Given the description of an element on the screen output the (x, y) to click on. 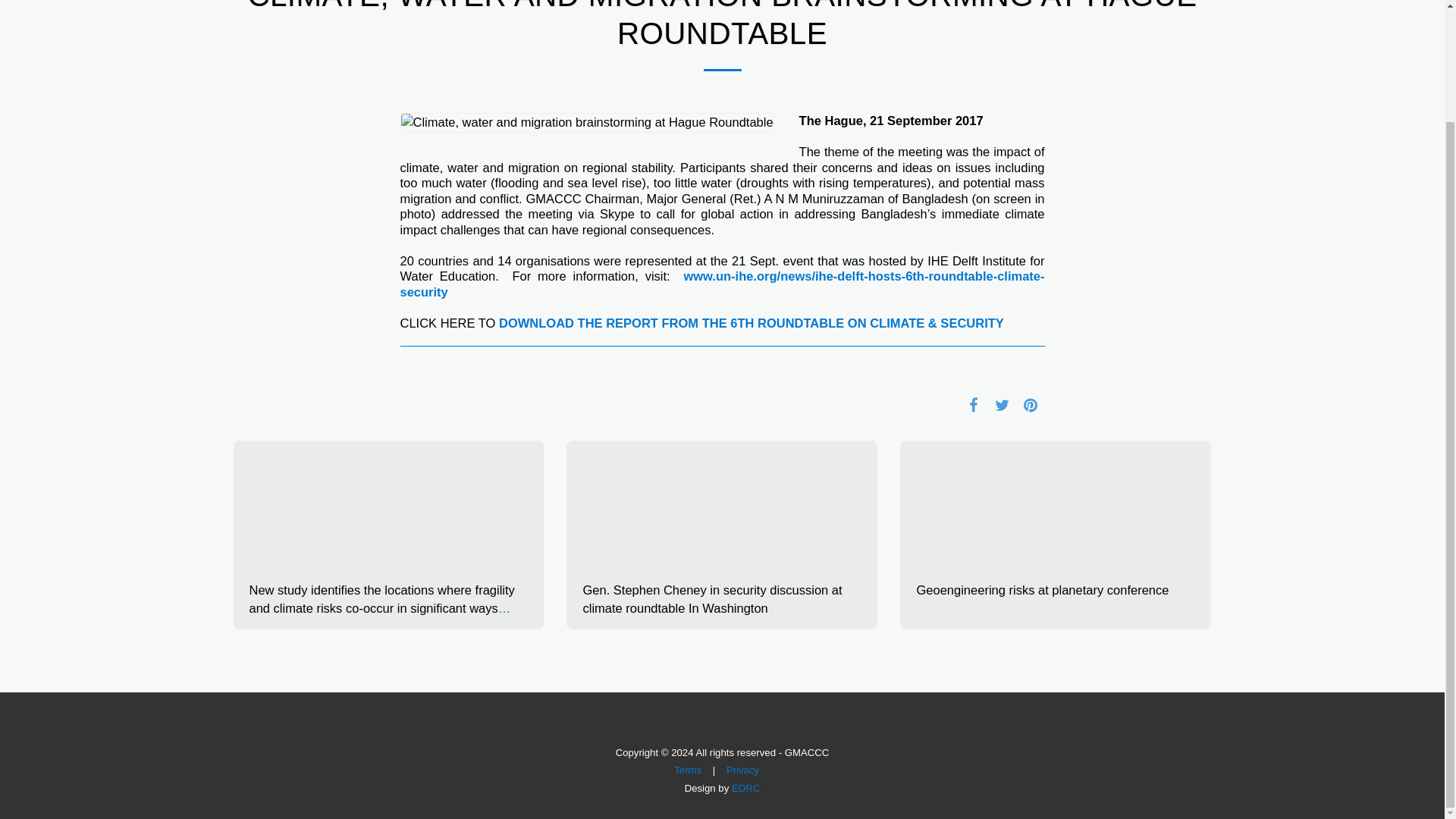
Pin it (1029, 404)
Share on Facebook (973, 404)
Tweet (1002, 404)
